Given the description of an element on the screen output the (x, y) to click on. 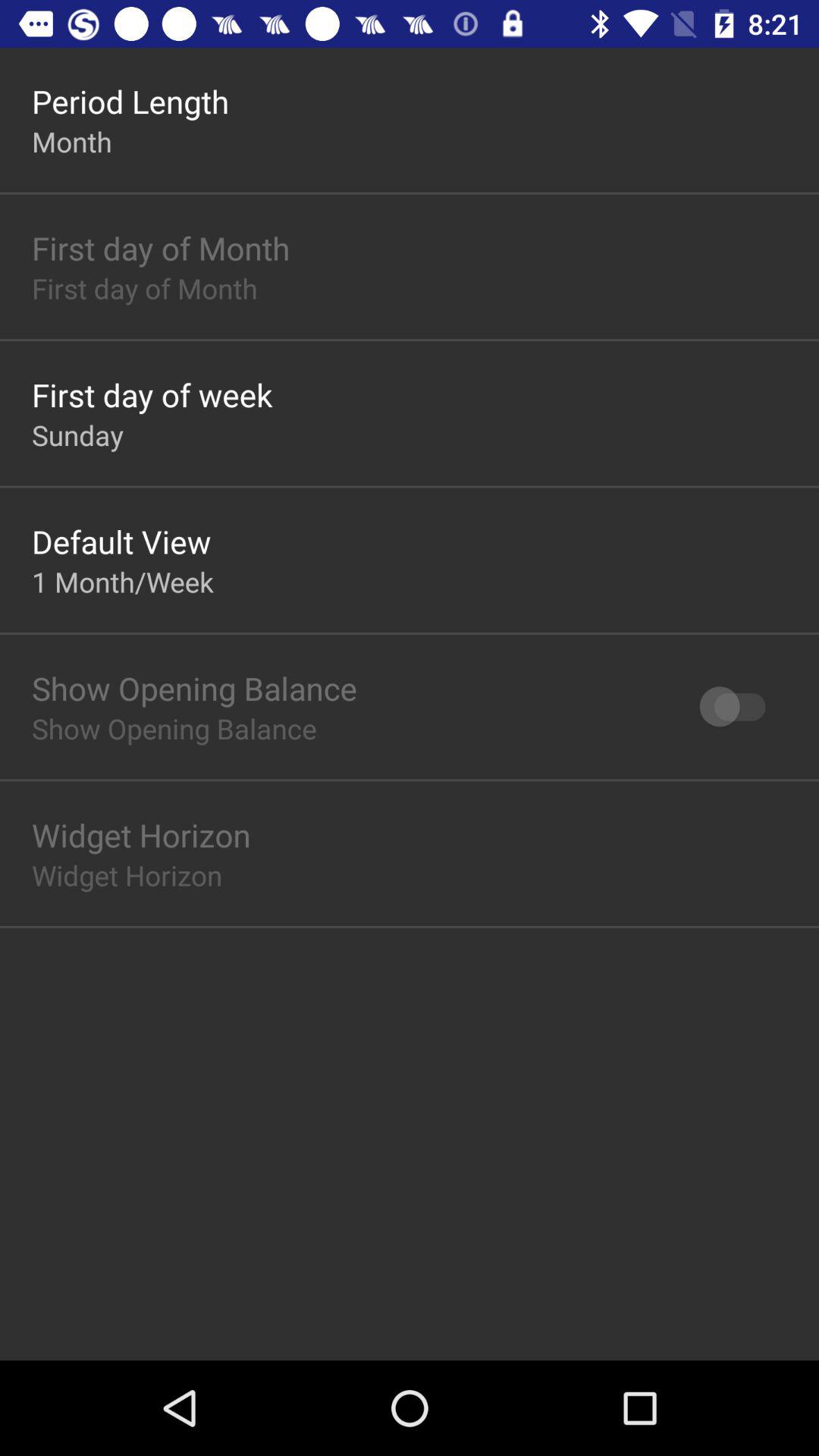
launch app above the 1 month/week item (121, 541)
